Given the description of an element on the screen output the (x, y) to click on. 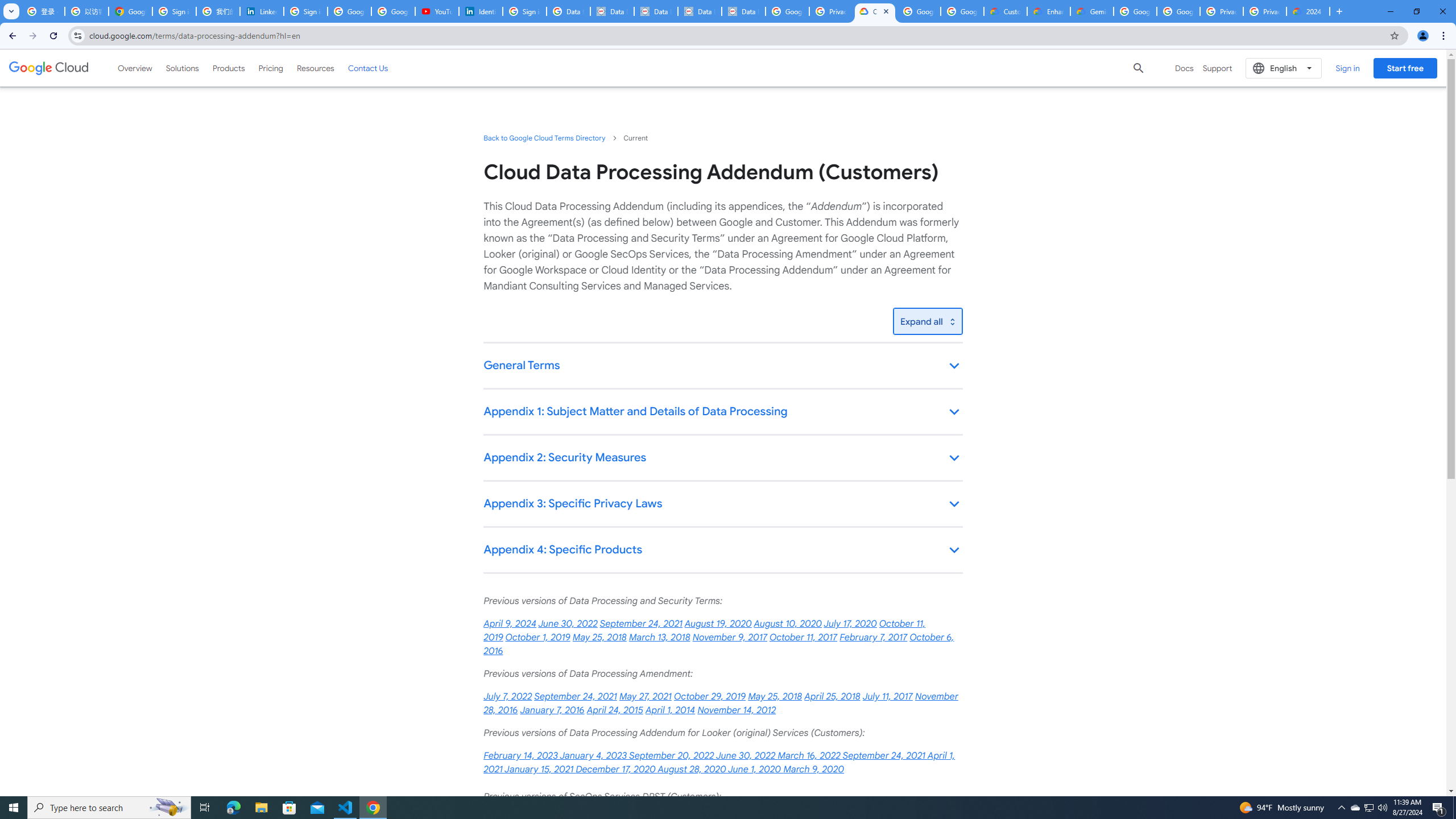
Back to Google Cloud Terms Directory (544, 137)
Google Cloud Platform (1134, 11)
October 1, 2019 (537, 637)
January 7, 2016 (552, 709)
May 25, 2018 (775, 696)
June 30, 2022 (568, 623)
Cloud Data Processing Addendum | Google Cloud (874, 11)
Sign in - Google Accounts (173, 11)
